Given the description of an element on the screen output the (x, y) to click on. 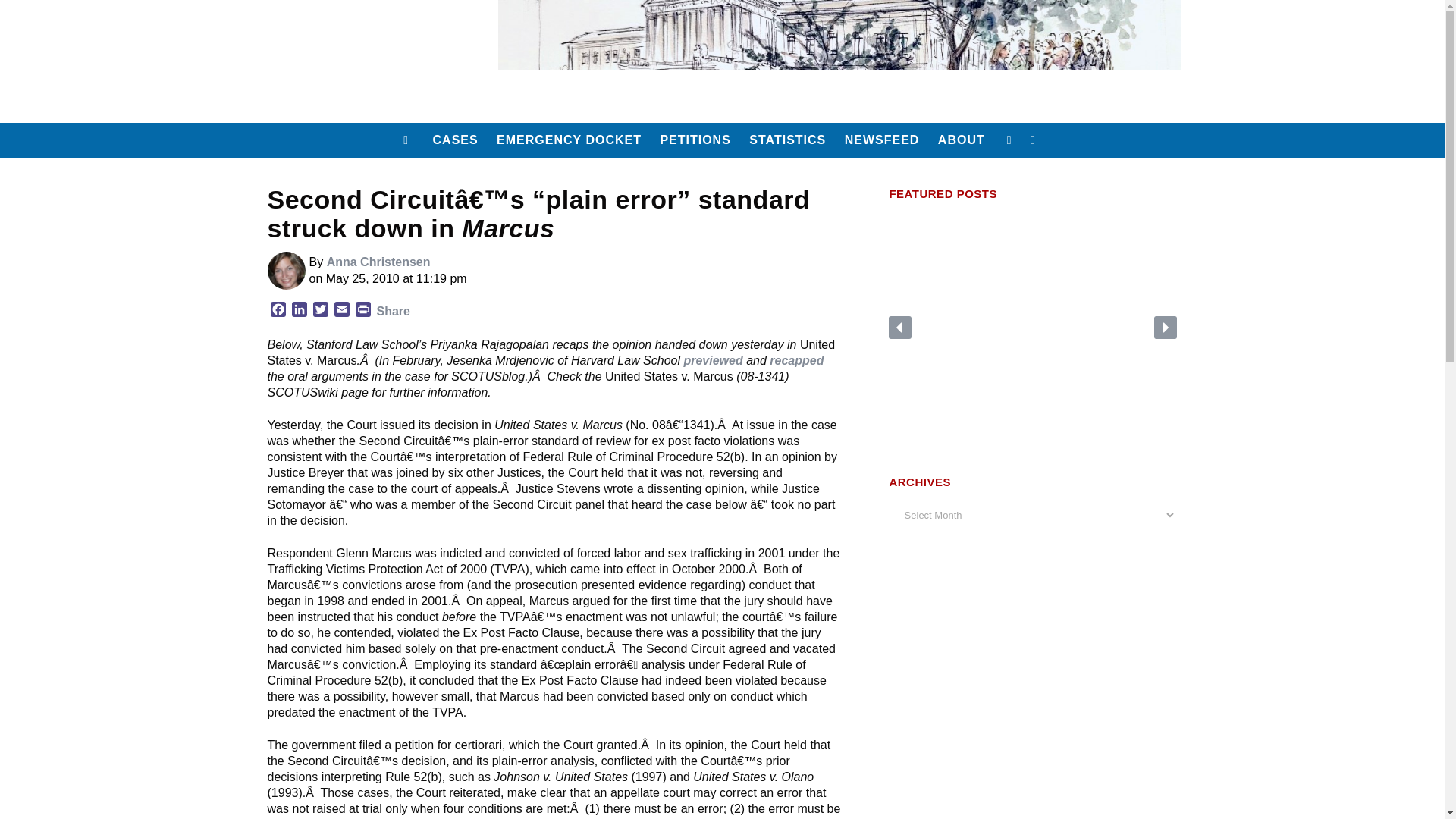
PrintFriendly (362, 311)
PETITIONS (695, 140)
LinkedIn (298, 311)
Facebook (277, 311)
ABOUT (961, 140)
Email (341, 311)
EMERGENCY DOCKET (569, 140)
Twitter (319, 311)
CASES (455, 140)
STATISTICS (786, 140)
